Given the description of an element on the screen output the (x, y) to click on. 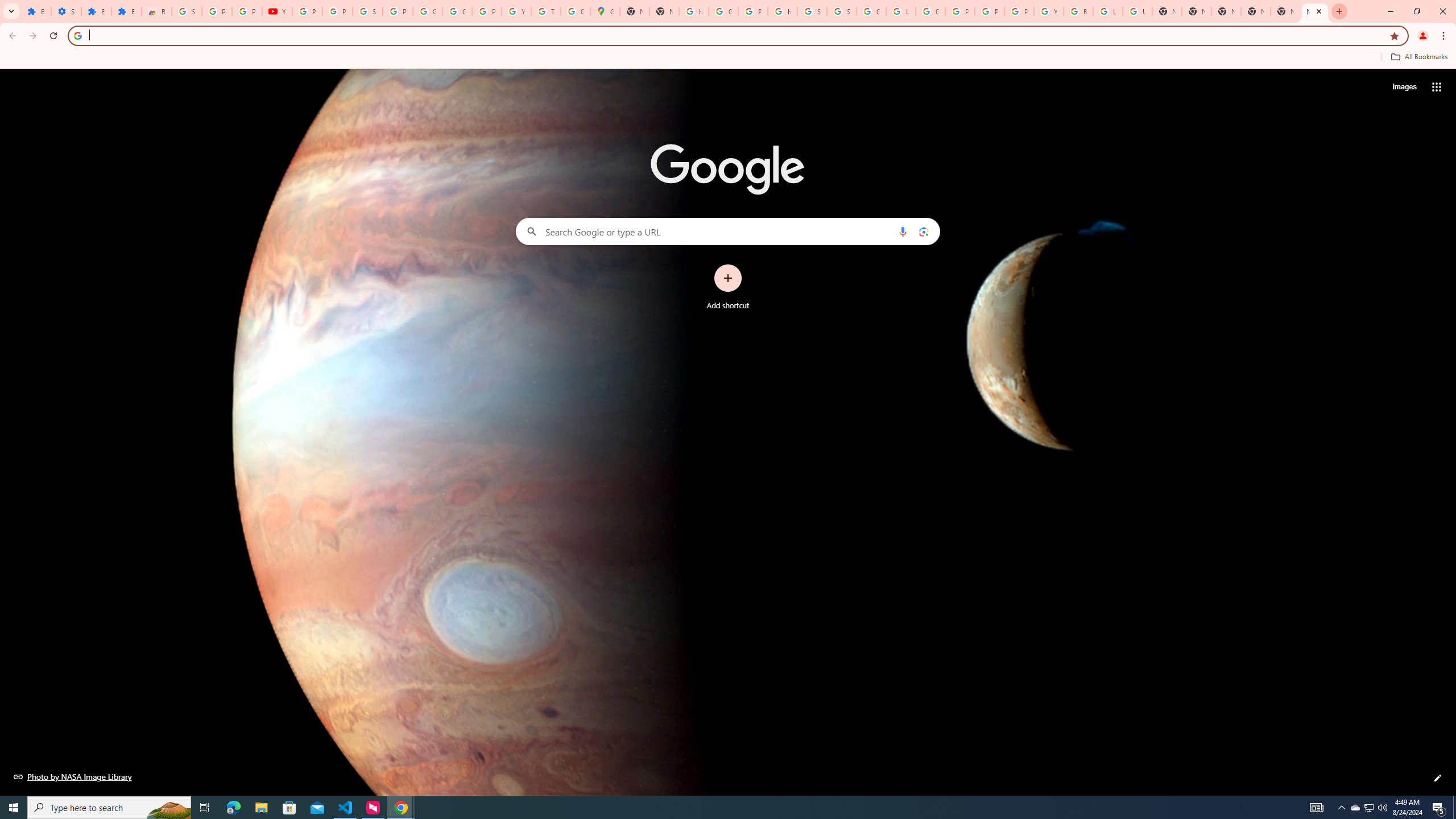
Google Account (426, 11)
Extensions (95, 11)
Photo by NASA Image Library (72, 776)
Sign in - Google Accounts (367, 11)
